Given the description of an element on the screen output the (x, y) to click on. 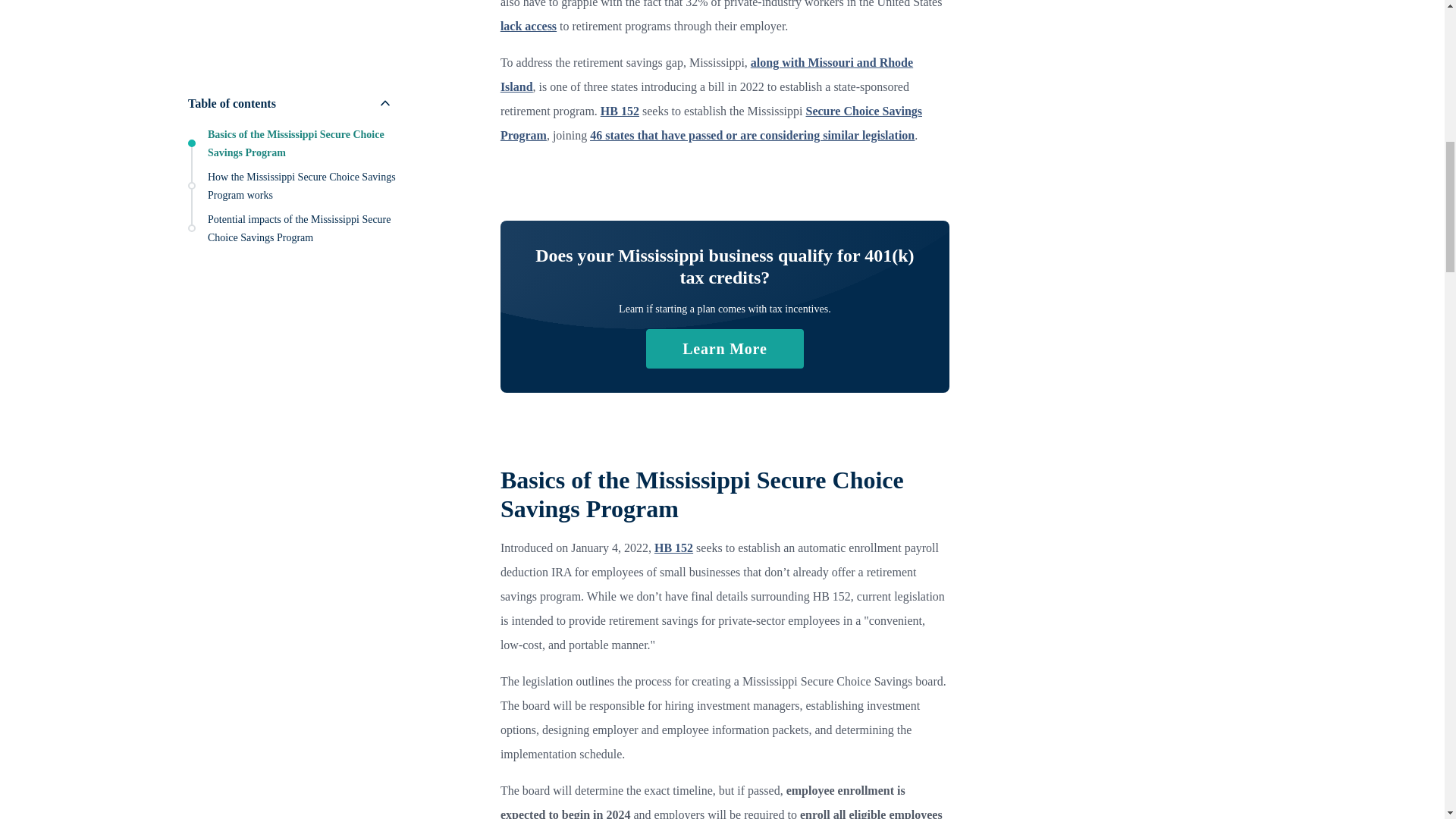
HB 152 (619, 110)
Secure Choice Savings Program (710, 122)
Learn More (724, 348)
lack access (528, 25)
along with Missouri and Rhode Island (706, 74)
HB 152 (673, 547)
